Given the description of an element on the screen output the (x, y) to click on. 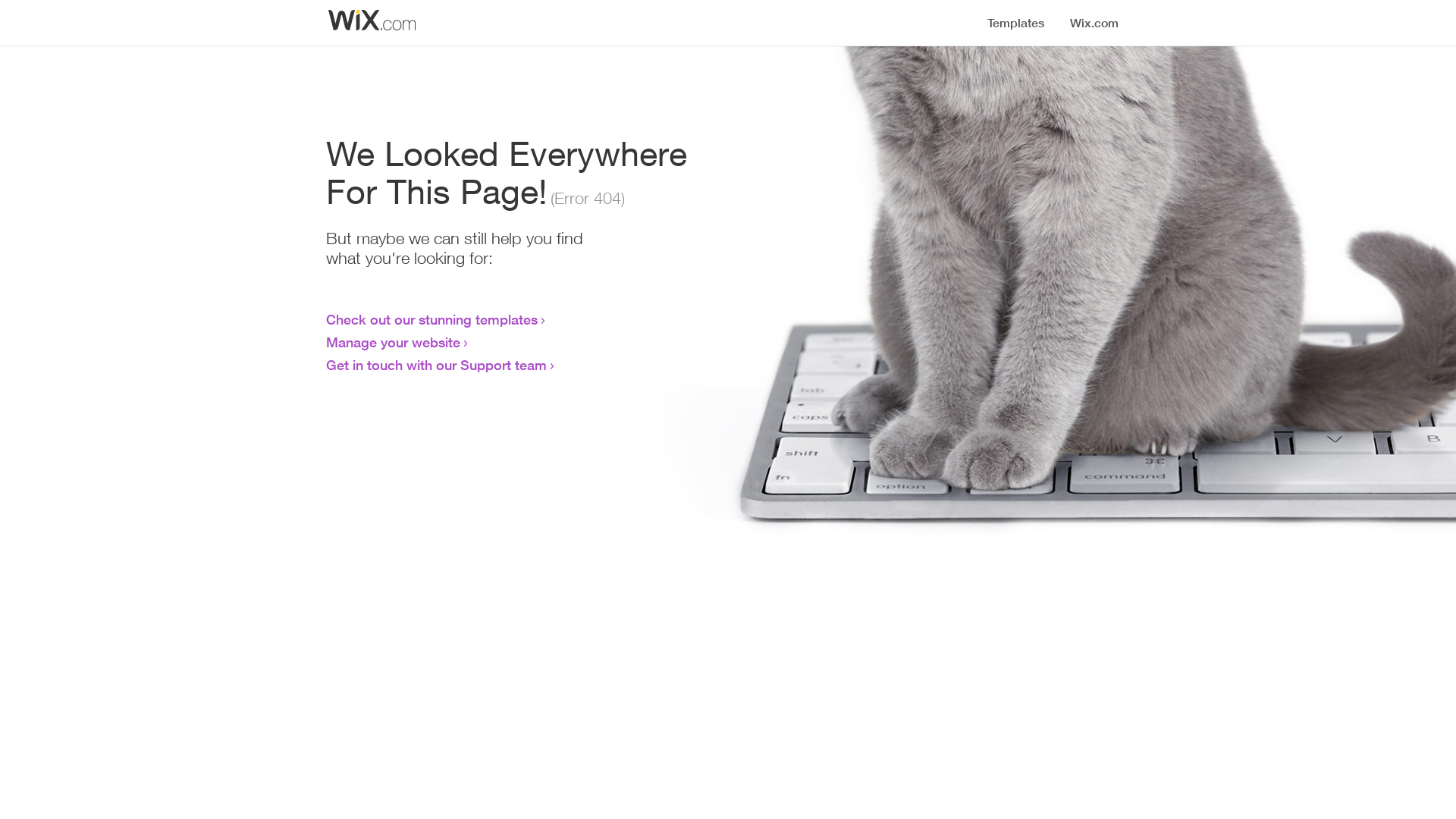
Manage your website Element type: text (393, 341)
Check out our stunning templates Element type: text (431, 318)
Get in touch with our Support team Element type: text (436, 364)
